Given the description of an element on the screen output the (x, y) to click on. 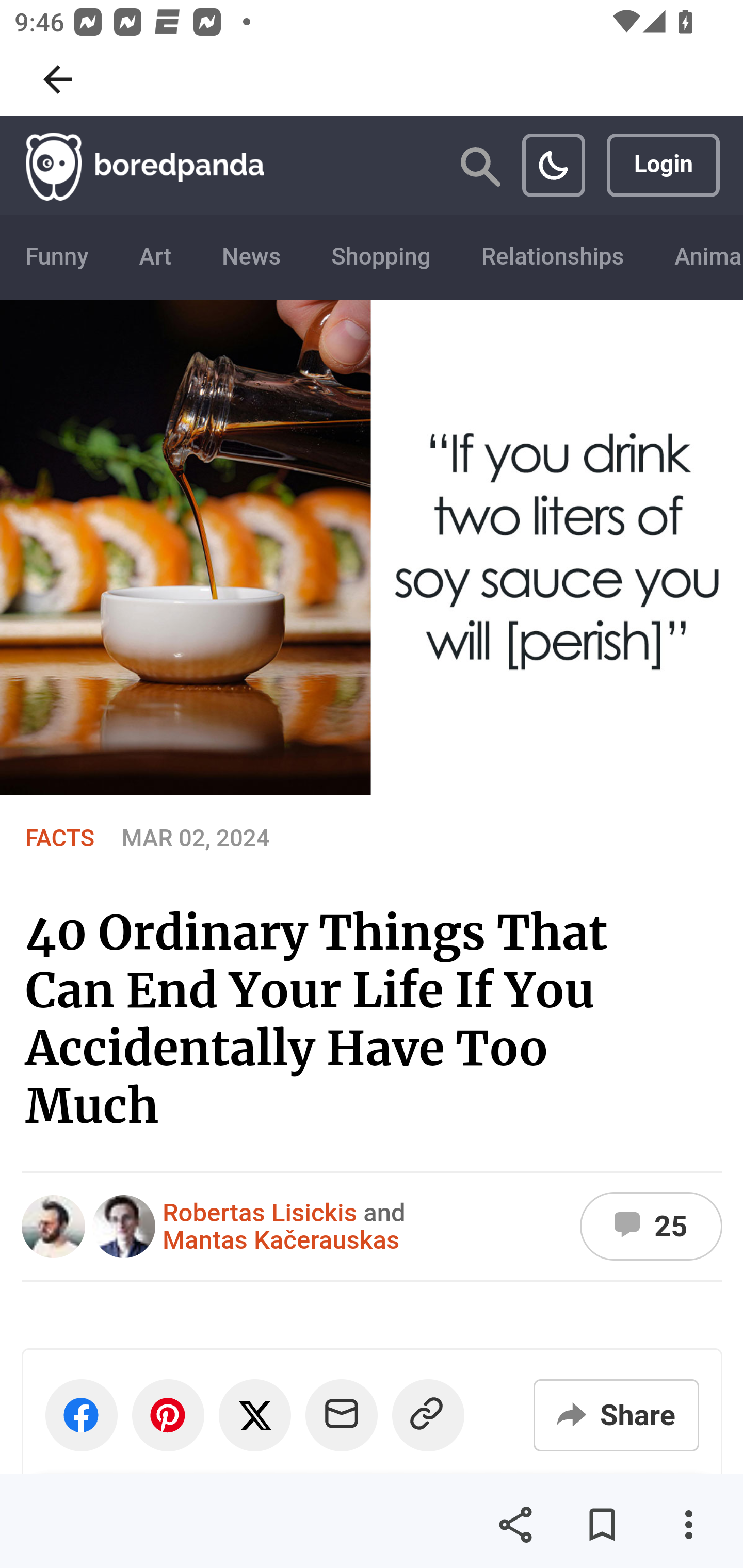
Navigate up (57, 79)
Share (514, 1524)
Save for later (601, 1524)
More options (688, 1524)
